Given the description of an element on the screen output the (x, y) to click on. 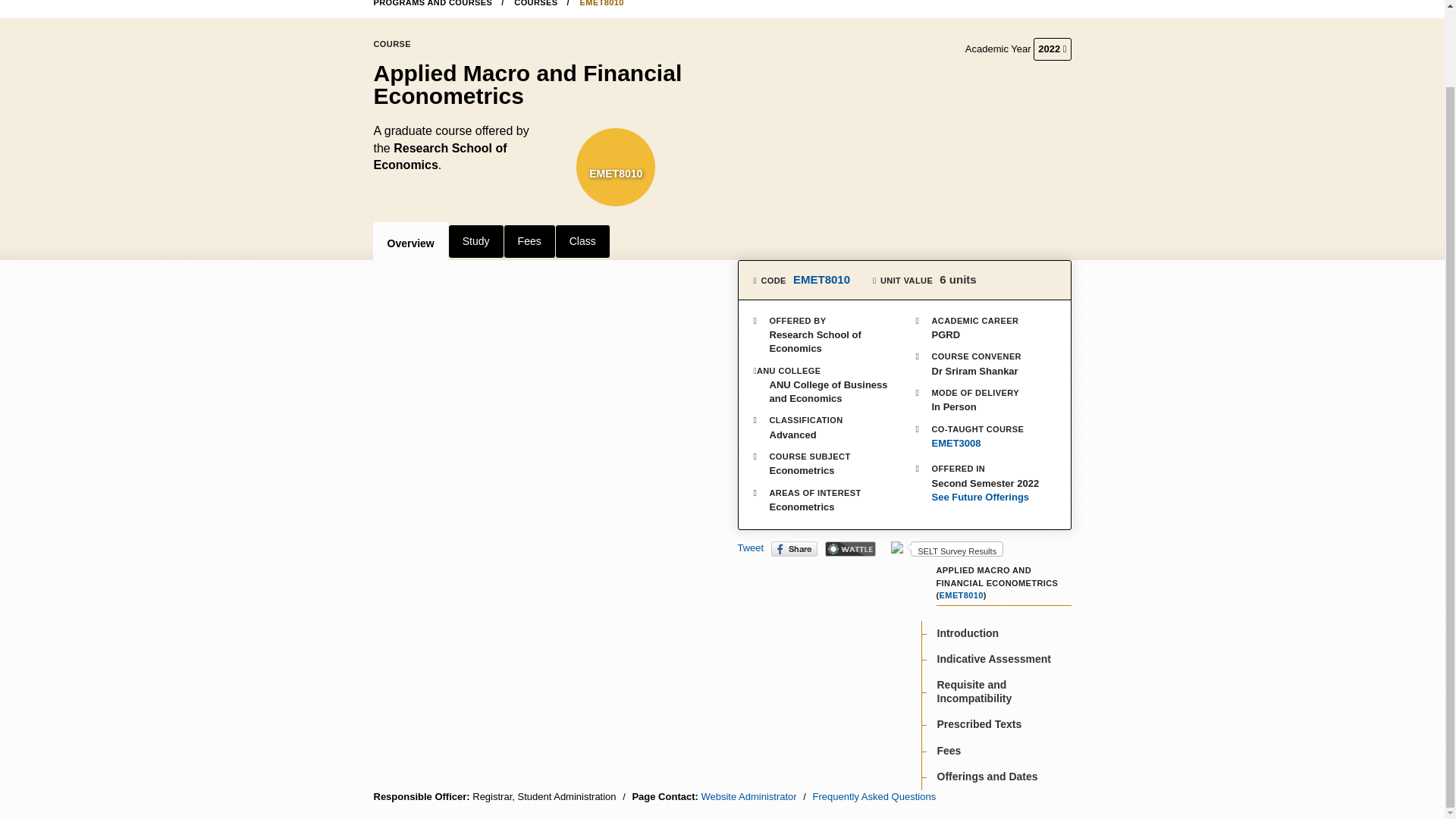
Overview (410, 240)
EMET8010 (615, 173)
Fees (529, 240)
Tweet (749, 547)
EMET8010 (821, 278)
Class (582, 240)
Share on Facebook (793, 548)
COURSES (541, 3)
EMET8010 (601, 3)
See Future Offerings (985, 497)
